Given the description of an element on the screen output the (x, y) to click on. 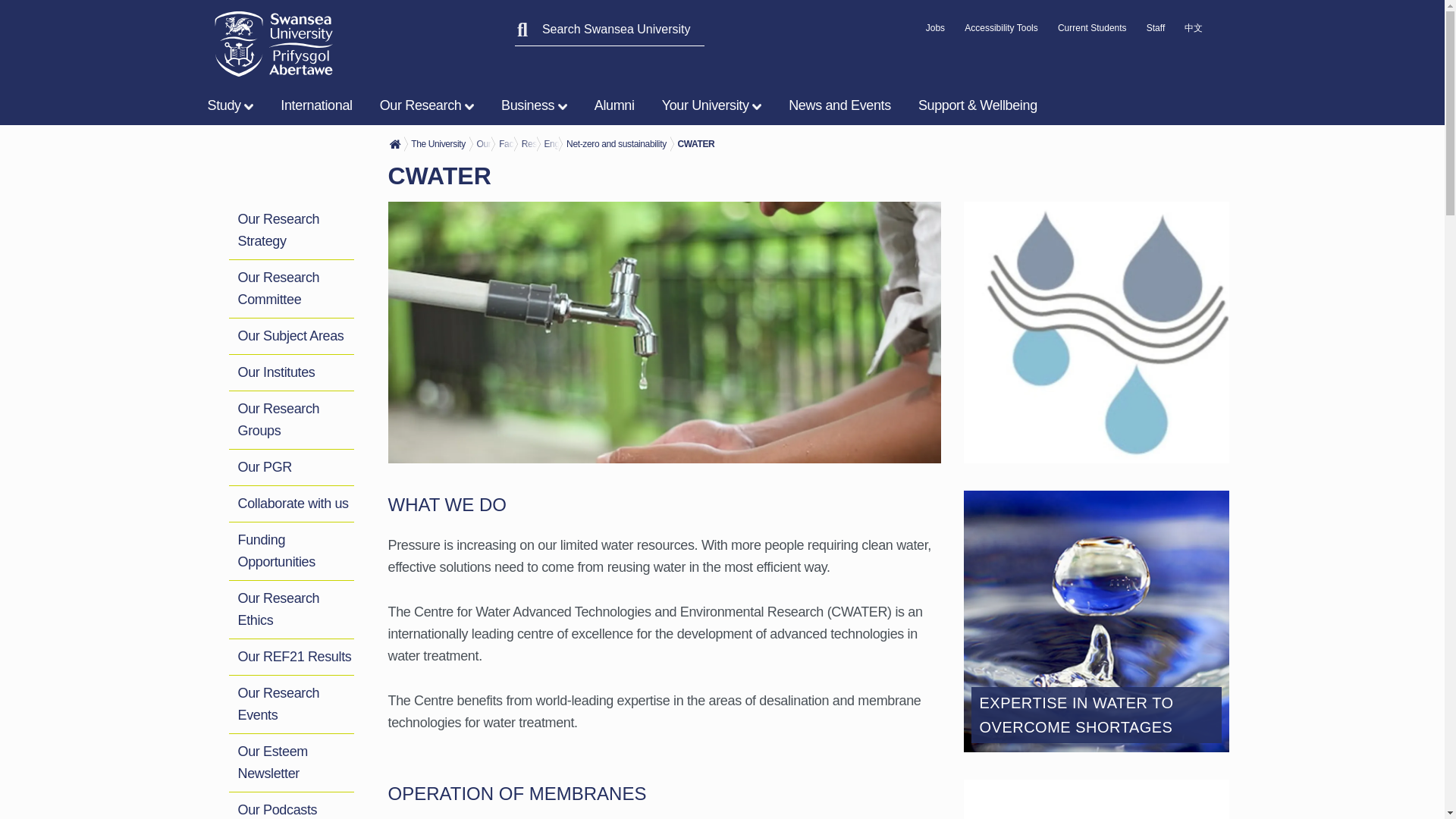
Staff (1155, 31)
Accessibility Tools (999, 31)
Jobs at Swansea University (935, 31)
Study (234, 105)
Jobs (935, 31)
Accessibility Tools (999, 31)
Current Students (1092, 31)
